Given the description of an element on the screen output the (x, y) to click on. 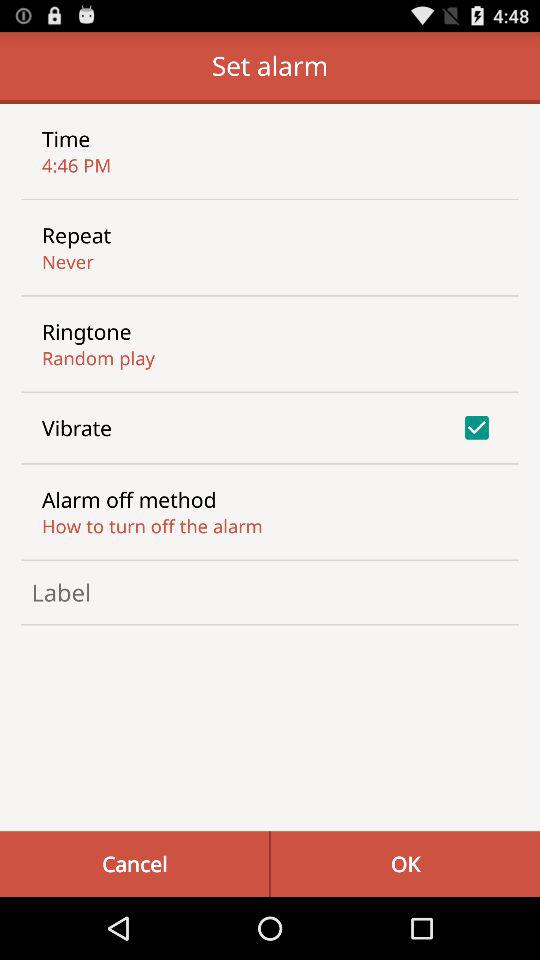
turn on the icon to the right of the vibrate item (476, 427)
